Given the description of an element on the screen output the (x, y) to click on. 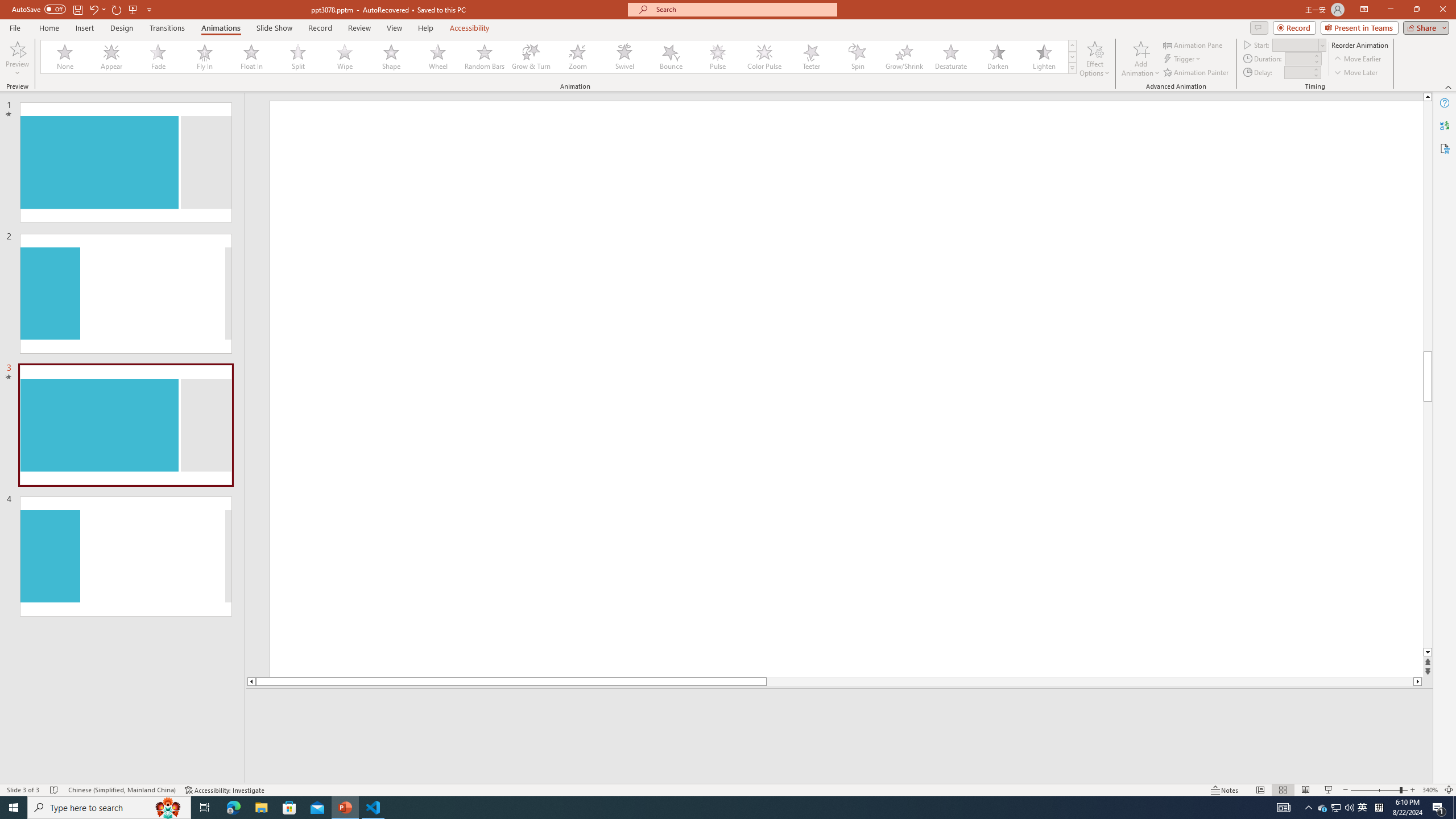
Teeter (810, 56)
Animation Duration (1298, 58)
Appear (111, 56)
Swivel (624, 56)
Fade (158, 56)
